Given the description of an element on the screen output the (x, y) to click on. 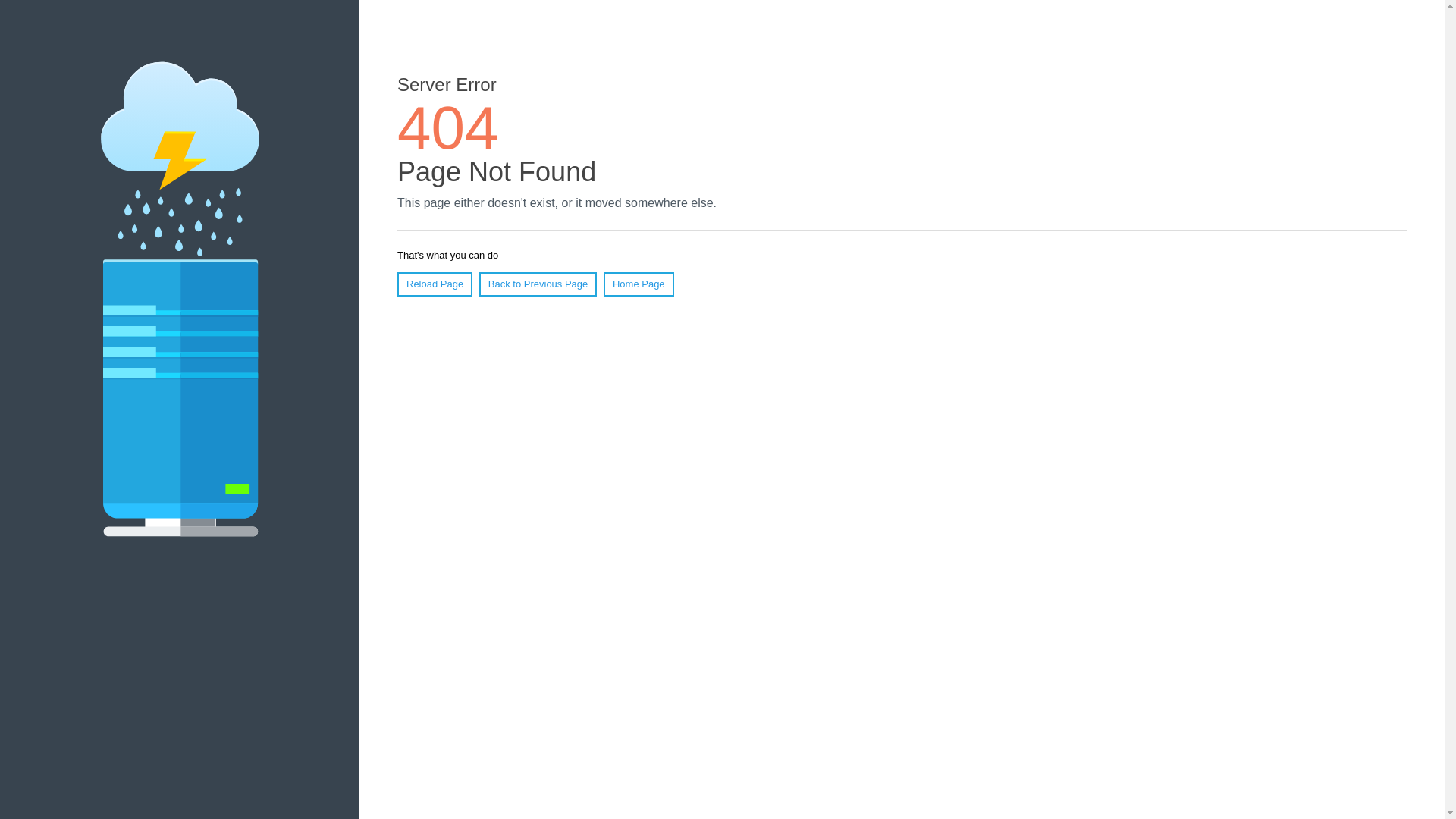
Home Page Element type: text (638, 284)
Back to Previous Page Element type: text (538, 284)
Reload Page Element type: text (434, 284)
